Given the description of an element on the screen output the (x, y) to click on. 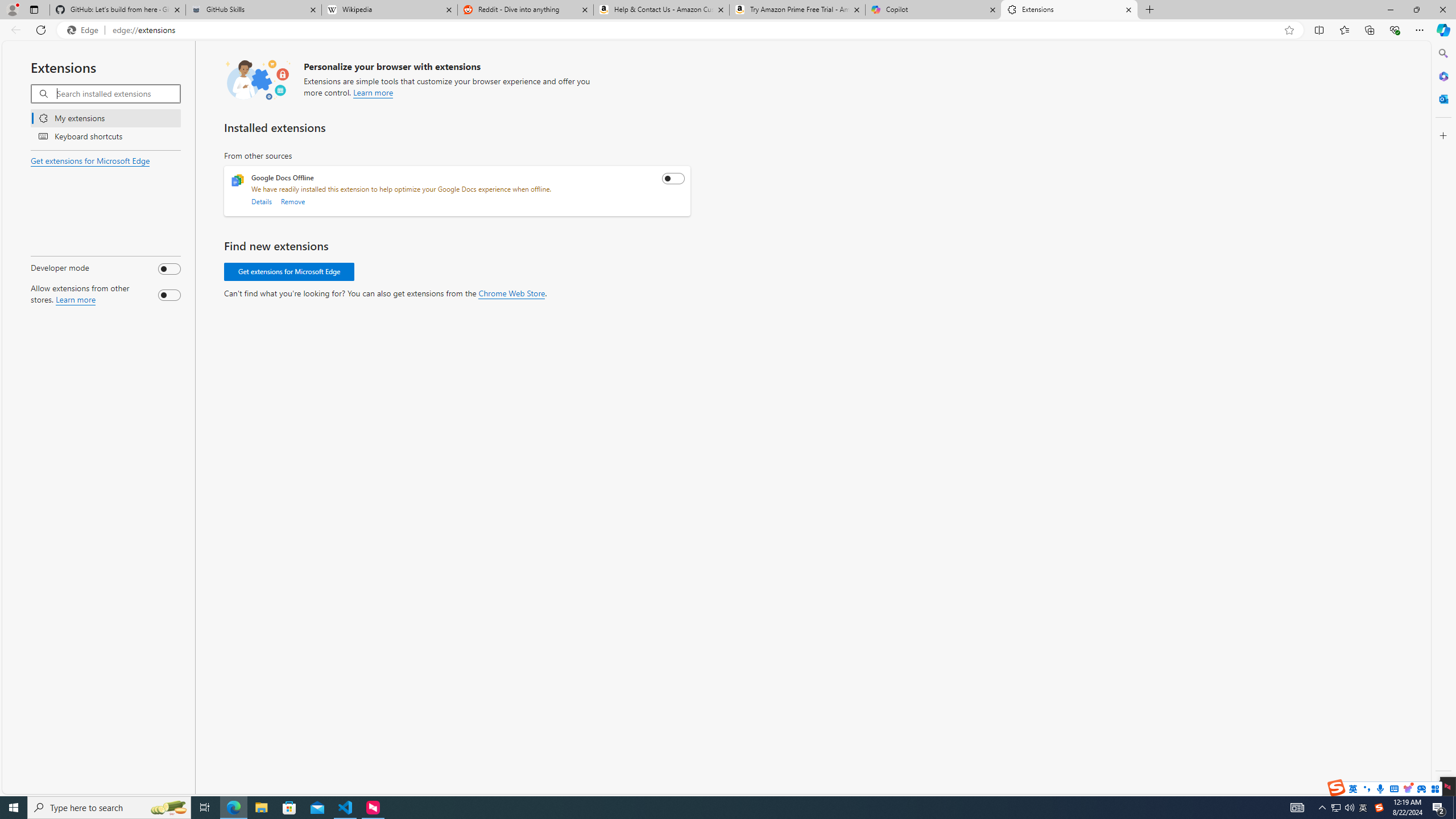
Search installed extensions (117, 93)
Developer mode (169, 268)
Copilot (933, 9)
Learn more about allowing extensions from other stores. (75, 299)
Google Docs Offline extension icon (237, 179)
GitHub Skills (253, 9)
